Given the description of an element on the screen output the (x, y) to click on. 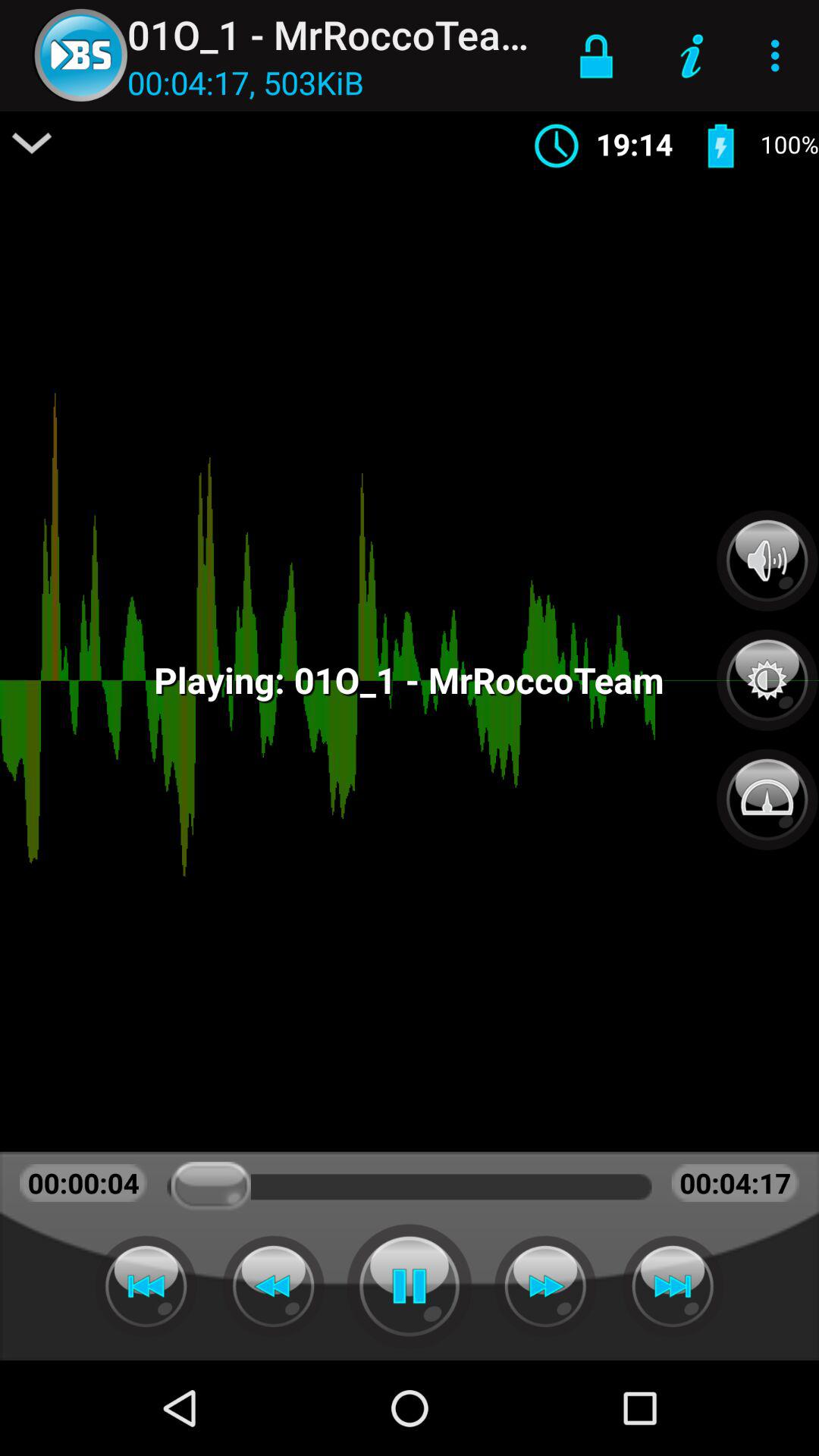
go to previous (273, 1286)
